Given the description of an element on the screen output the (x, y) to click on. 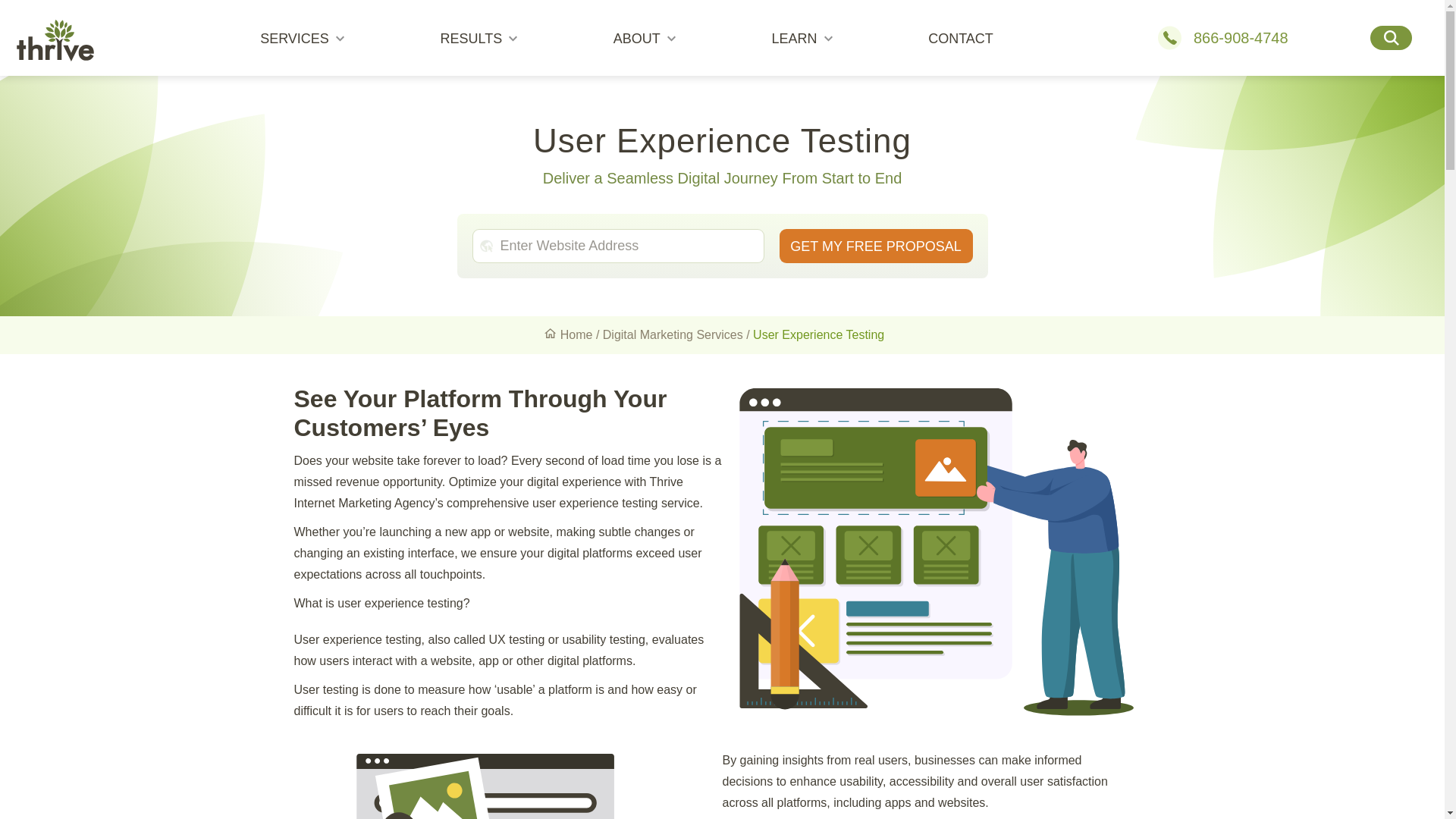
GET MY FREE PROPOSAL (875, 245)
SERVICES (301, 37)
